Given the description of an element on the screen output the (x, y) to click on. 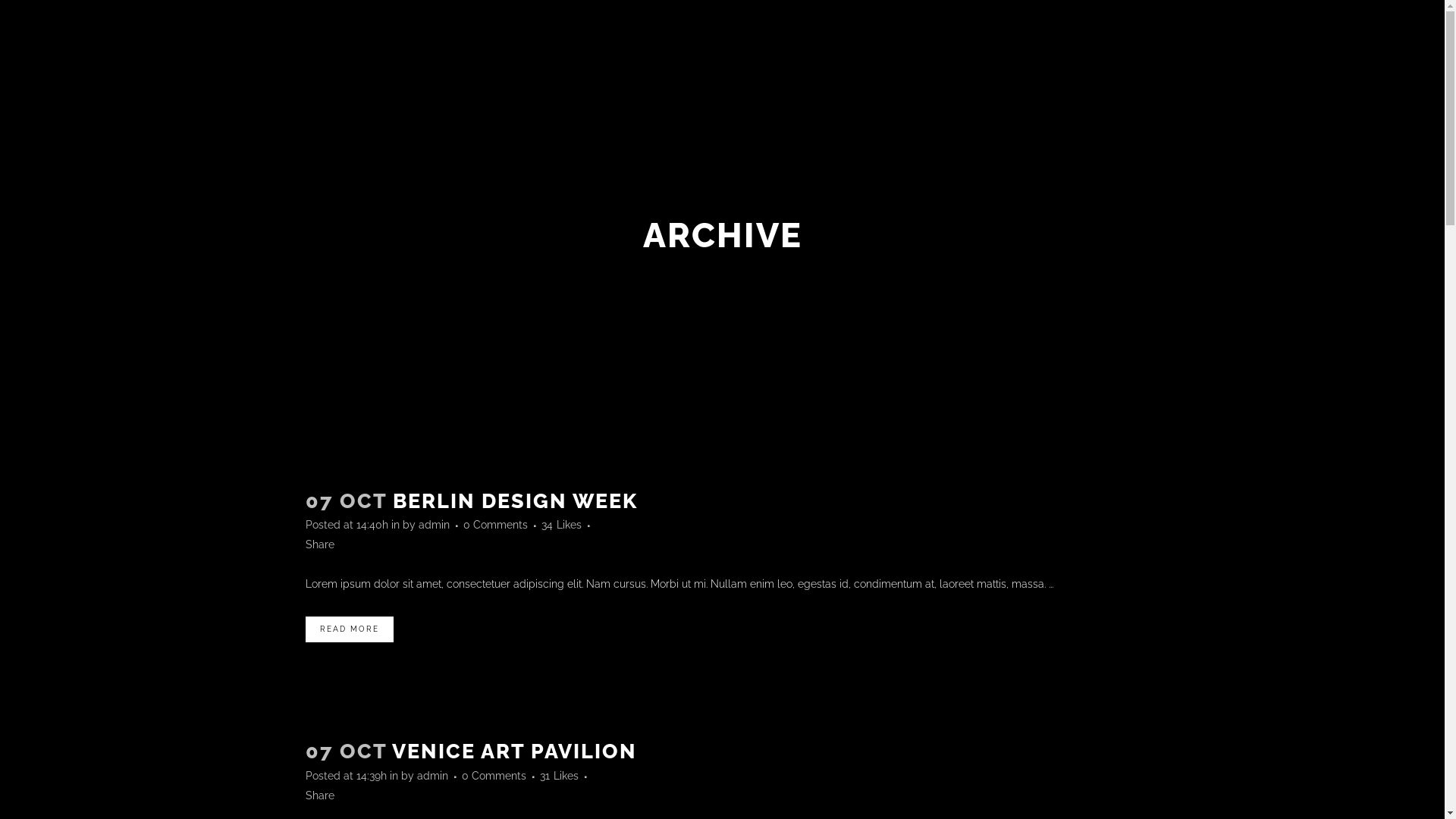
admin Element type: text (433, 524)
VENICE ART PAVILION Element type: text (513, 750)
31 Likes Element type: text (558, 775)
admin Element type: text (432, 775)
READ MORE Element type: text (348, 629)
BERLIN DESIGN WEEK Element type: text (514, 500)
0 Comments Element type: text (494, 524)
CONTACT Element type: text (779, 56)
34 Likes Element type: text (561, 524)
Share Element type: text (318, 795)
0 Comments Element type: text (493, 775)
PRENDRE UN RDV Element type: text (685, 56)
Share Element type: text (318, 544)
